Given the description of an element on the screen output the (x, y) to click on. 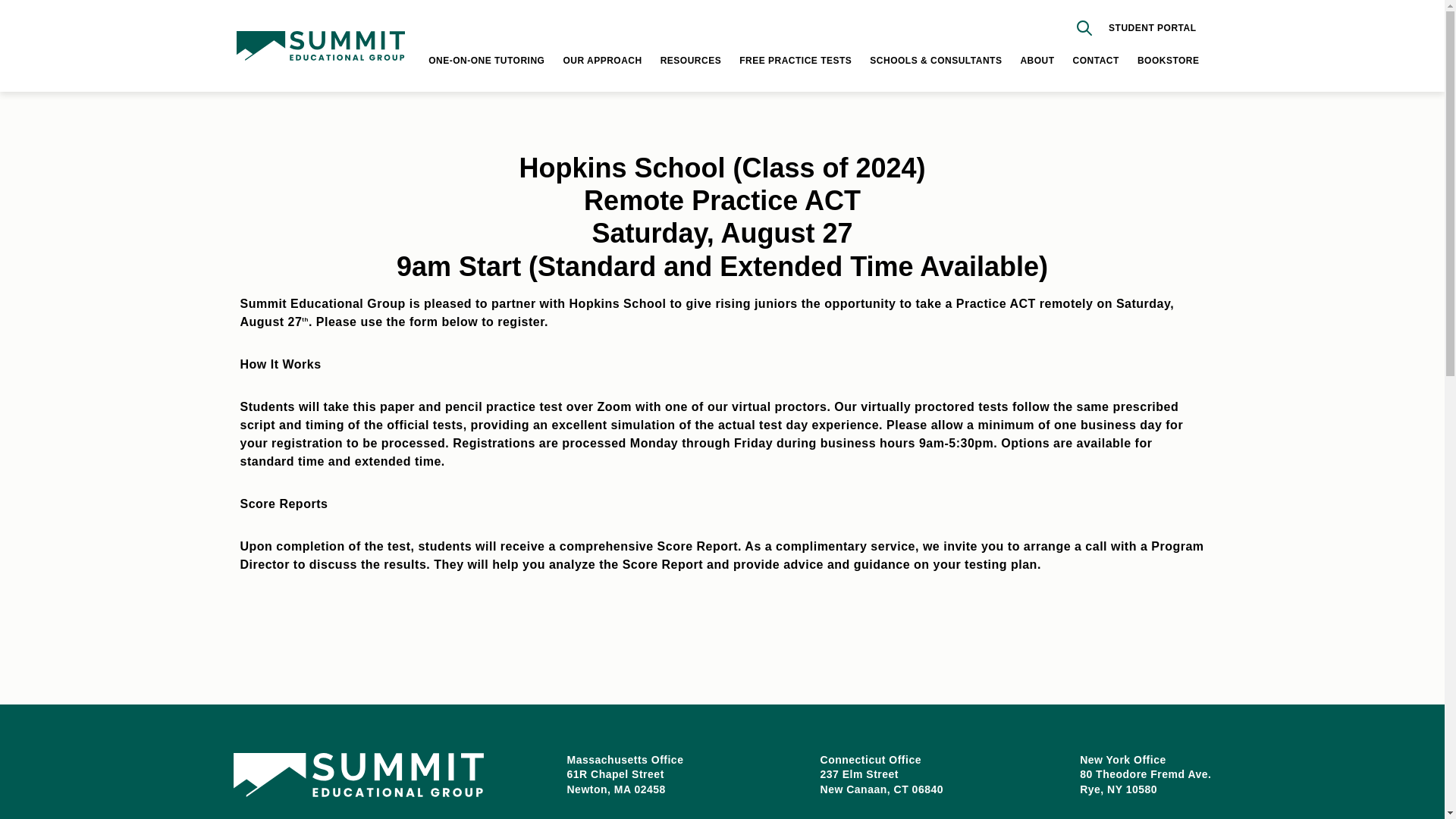
ONE-ON-ONE TUTORING (486, 60)
FREE PRACTICE TESTS (795, 60)
OUR APPROACH (602, 61)
RESOURCES (691, 60)
STUDENT PORTAL (1151, 28)
BOOKSTORE (1168, 61)
CONTACT (1096, 61)
Search icon (1083, 27)
ABOUT (1037, 60)
Search icon (1084, 28)
